Given the description of an element on the screen output the (x, y) to click on. 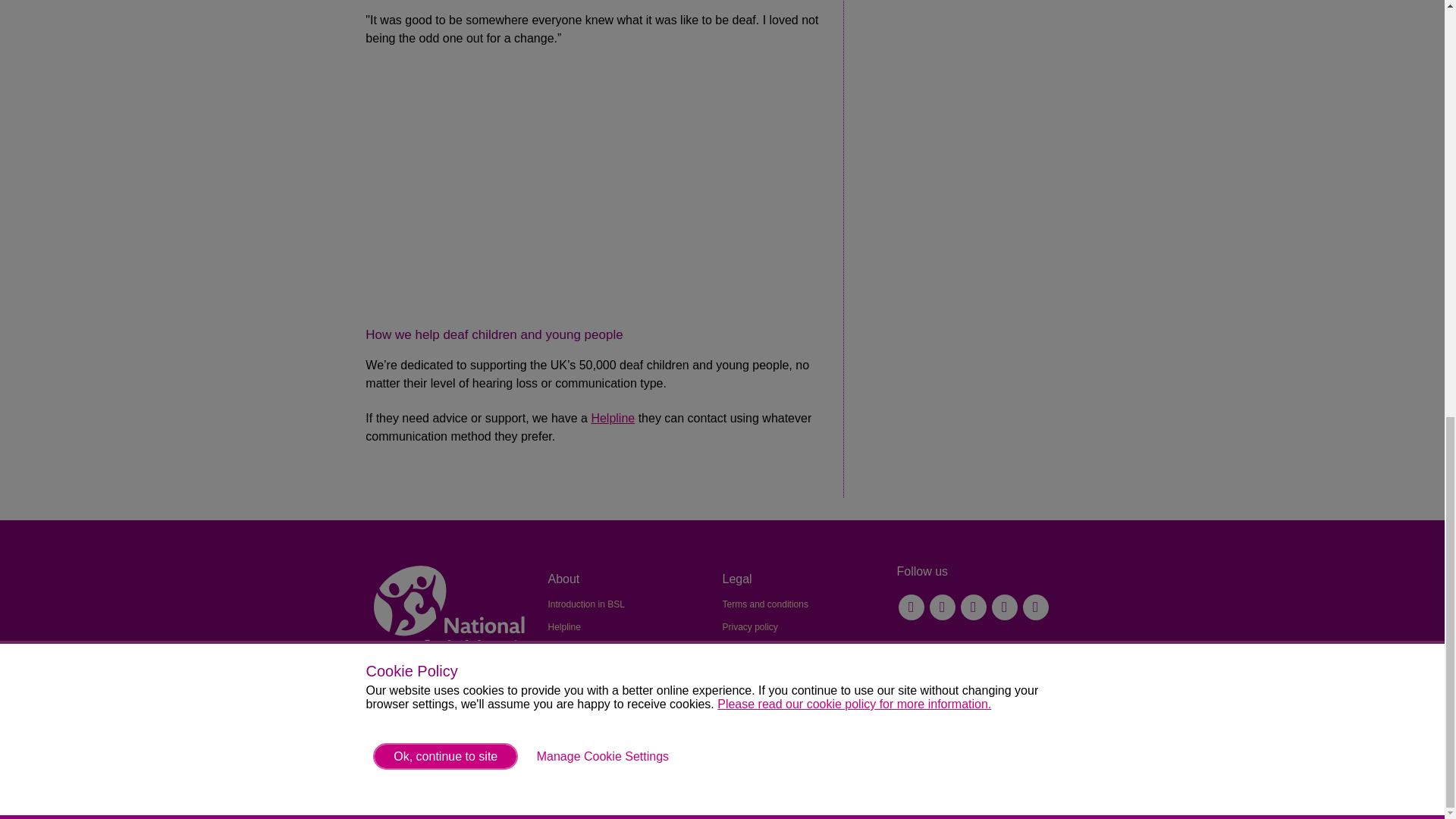
Helpline (612, 418)
